Given the description of an element on the screen output the (x, y) to click on. 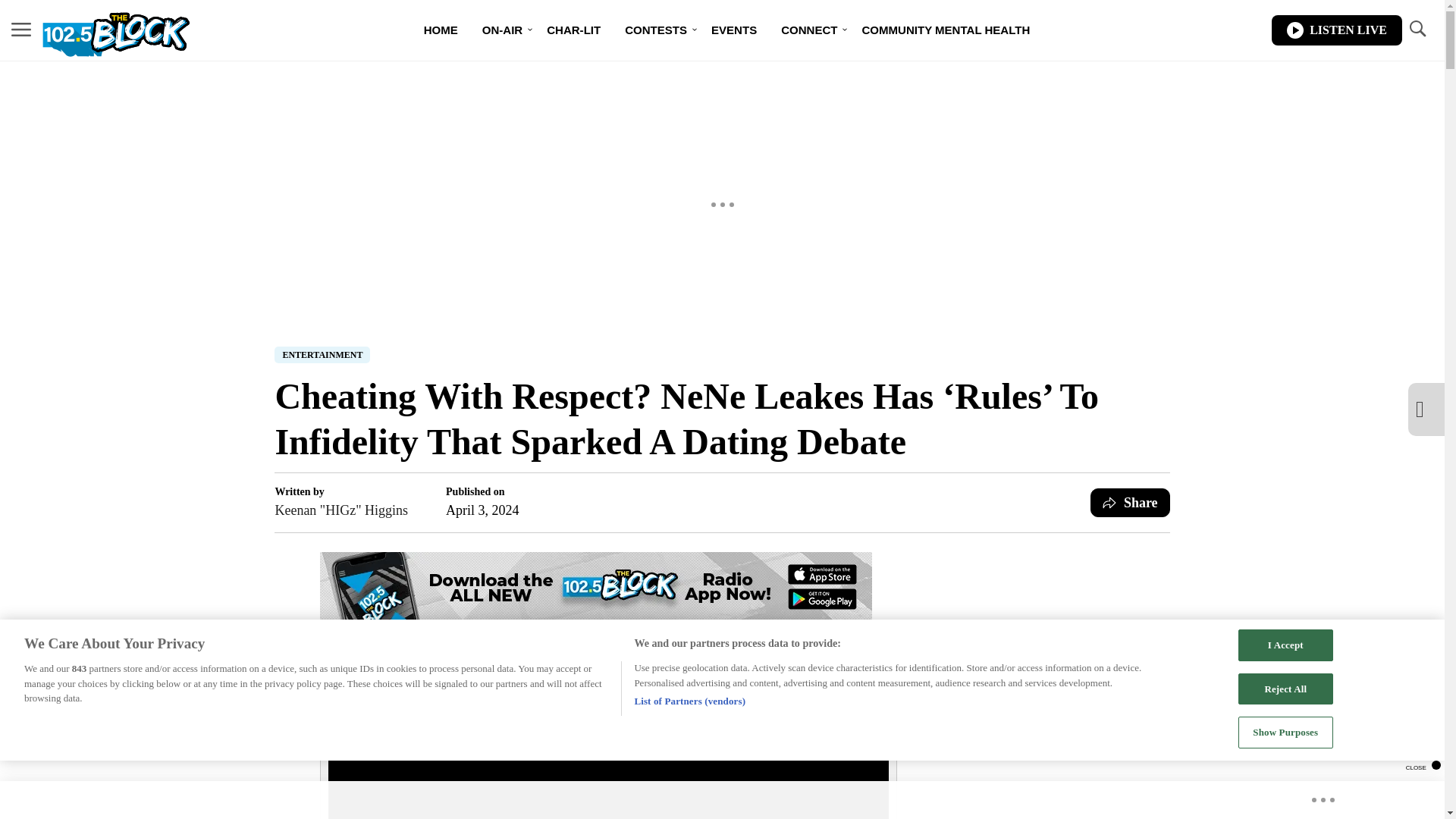
COMMUNITY MENTAL HEALTH (945, 30)
TOGGLE SEARCH (1417, 28)
CONTESTS (655, 30)
ENTERTAINMENT (322, 354)
TOGGLE SEARCH (1417, 30)
CHAR-LIT (573, 30)
LISTEN LIVE (1336, 30)
HOME (441, 30)
ON-AIR (502, 30)
CONNECT (808, 30)
MENU (20, 29)
MENU (20, 30)
Share (1130, 502)
EVENTS (733, 30)
Keenan "HIGz" Higgins (341, 509)
